Given the description of an element on the screen output the (x, y) to click on. 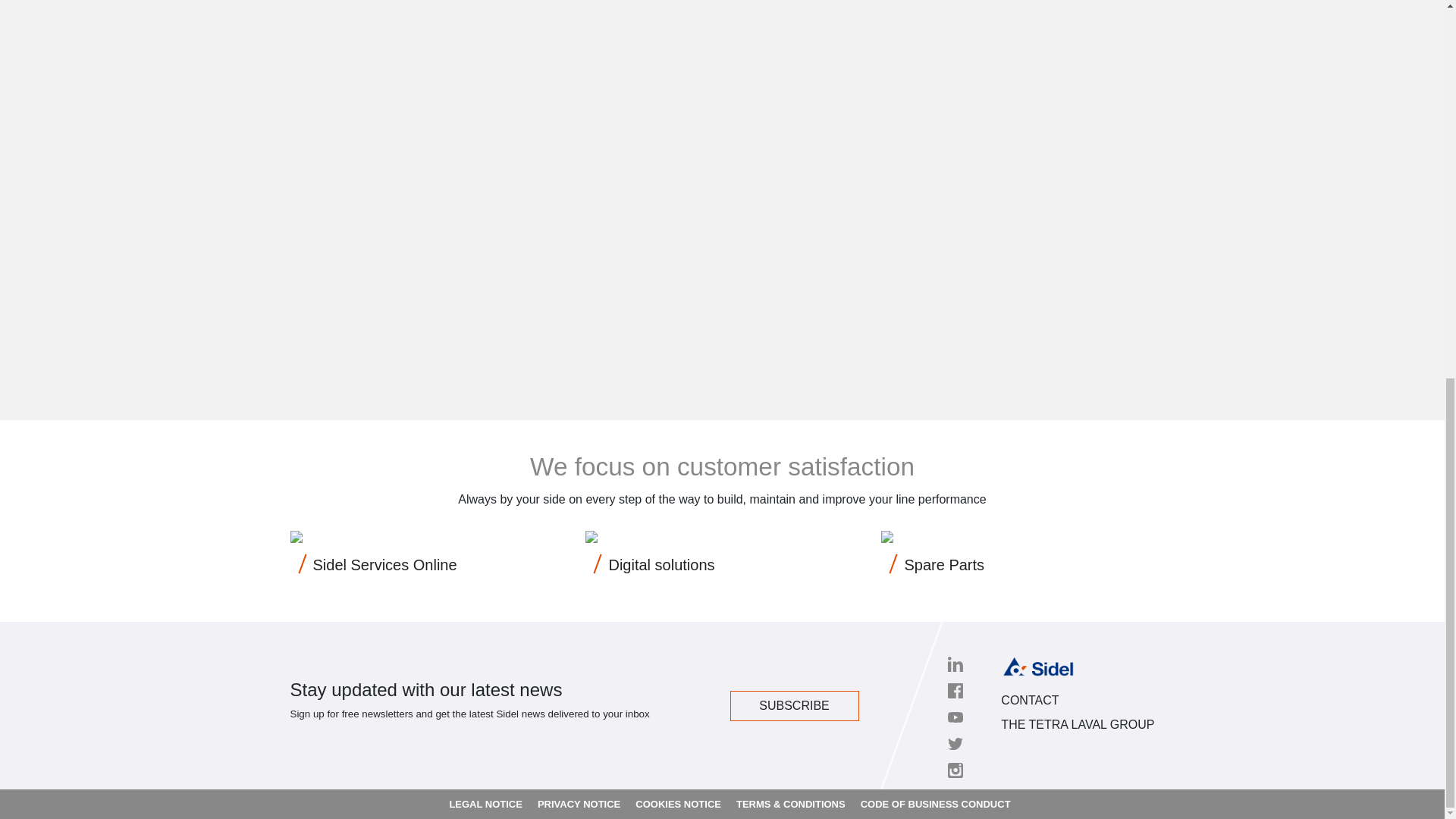
LinkedIn (954, 663)
Twitter (954, 743)
Facebook (954, 690)
YouTube (954, 717)
Instagram (954, 770)
